Given the description of an element on the screen output the (x, y) to click on. 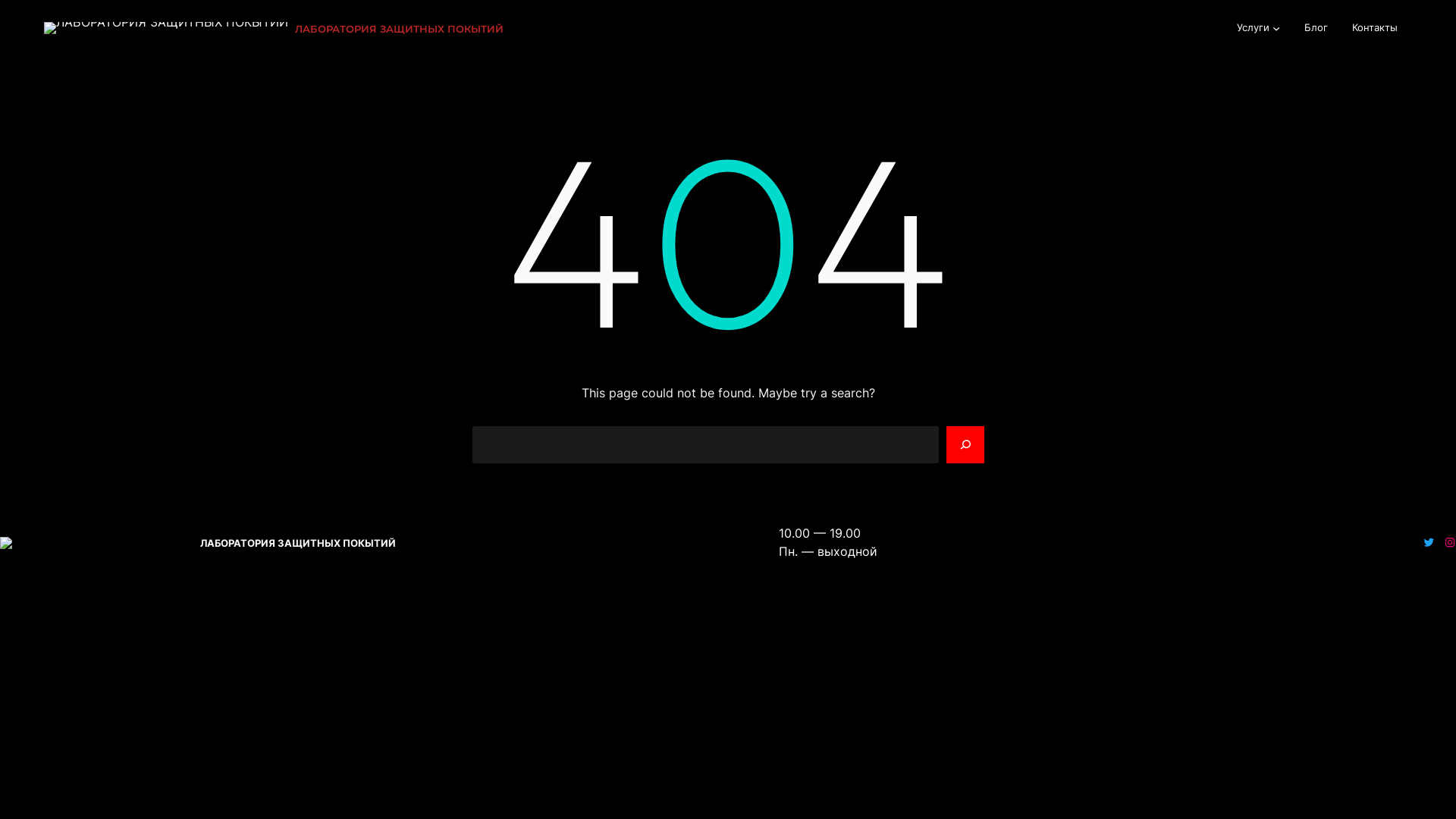
Twitter Element type: text (1428, 542)
